Given the description of an element on the screen output the (x, y) to click on. 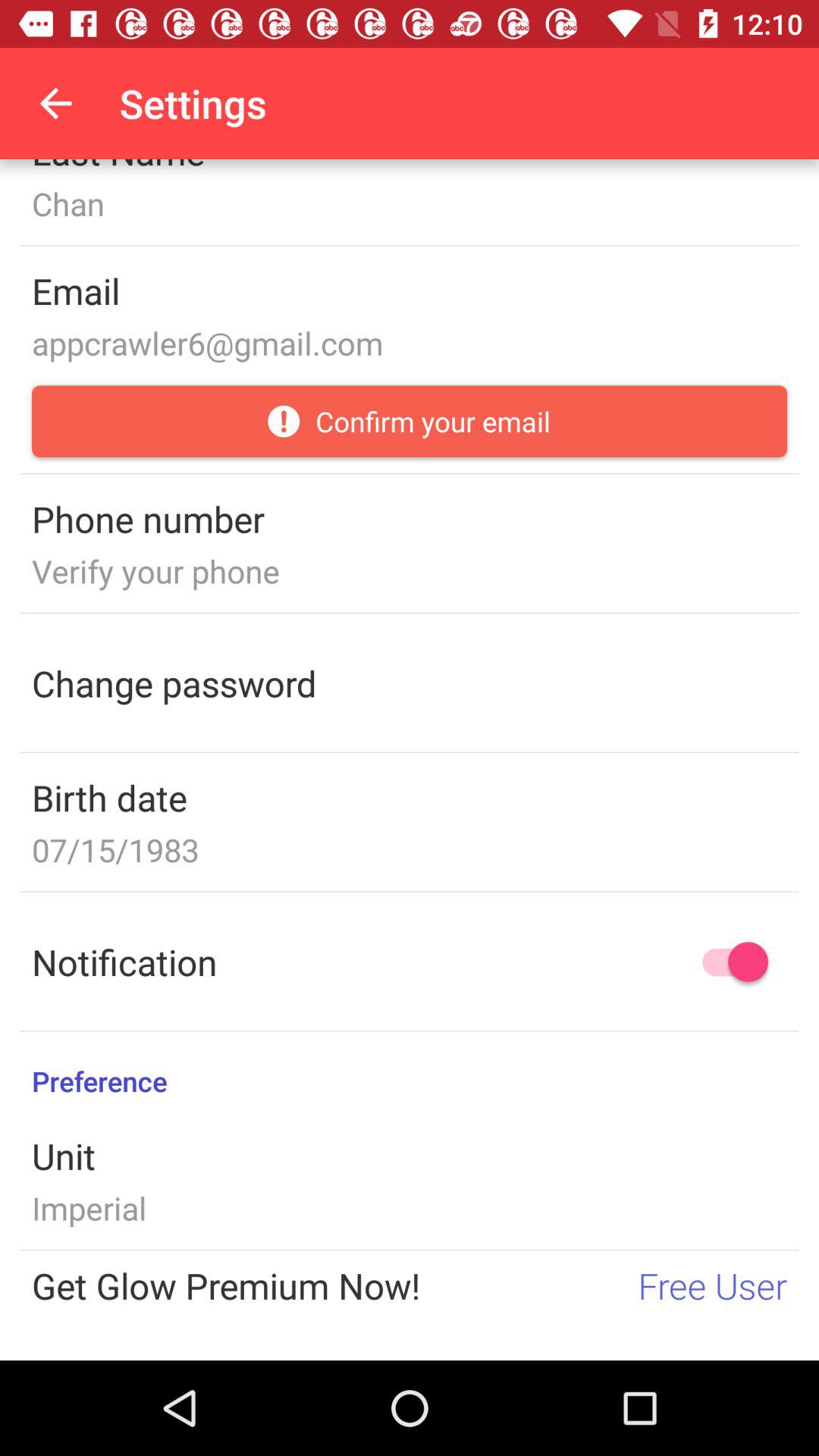
jump to the free user icon (712, 1285)
